Given the description of an element on the screen output the (x, y) to click on. 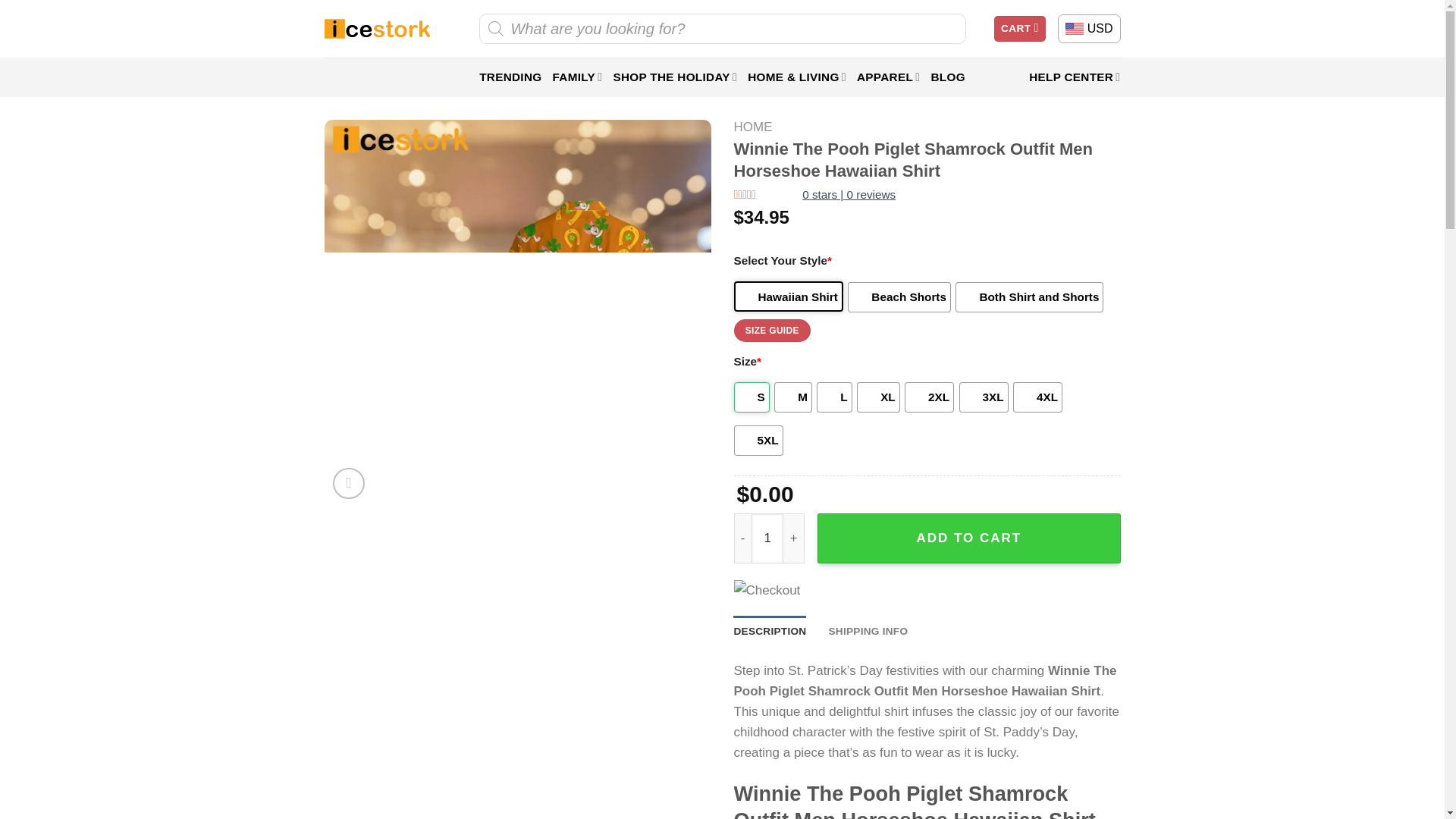
Zoom (348, 482)
Beach Shorts (898, 296)
TRENDING (510, 77)
HOME (753, 126)
SHOP THE HOLIDAY (674, 77)
Icestork - Best Clothings With Cheap Price (376, 28)
HELP CENTER (1074, 77)
Both Shirt and Shorts (1029, 296)
Hawaiian Shirt (788, 296)
FAMILY (576, 77)
CART (1019, 28)
Cart (1019, 28)
APPAREL (888, 77)
